Given the description of an element on the screen output the (x, y) to click on. 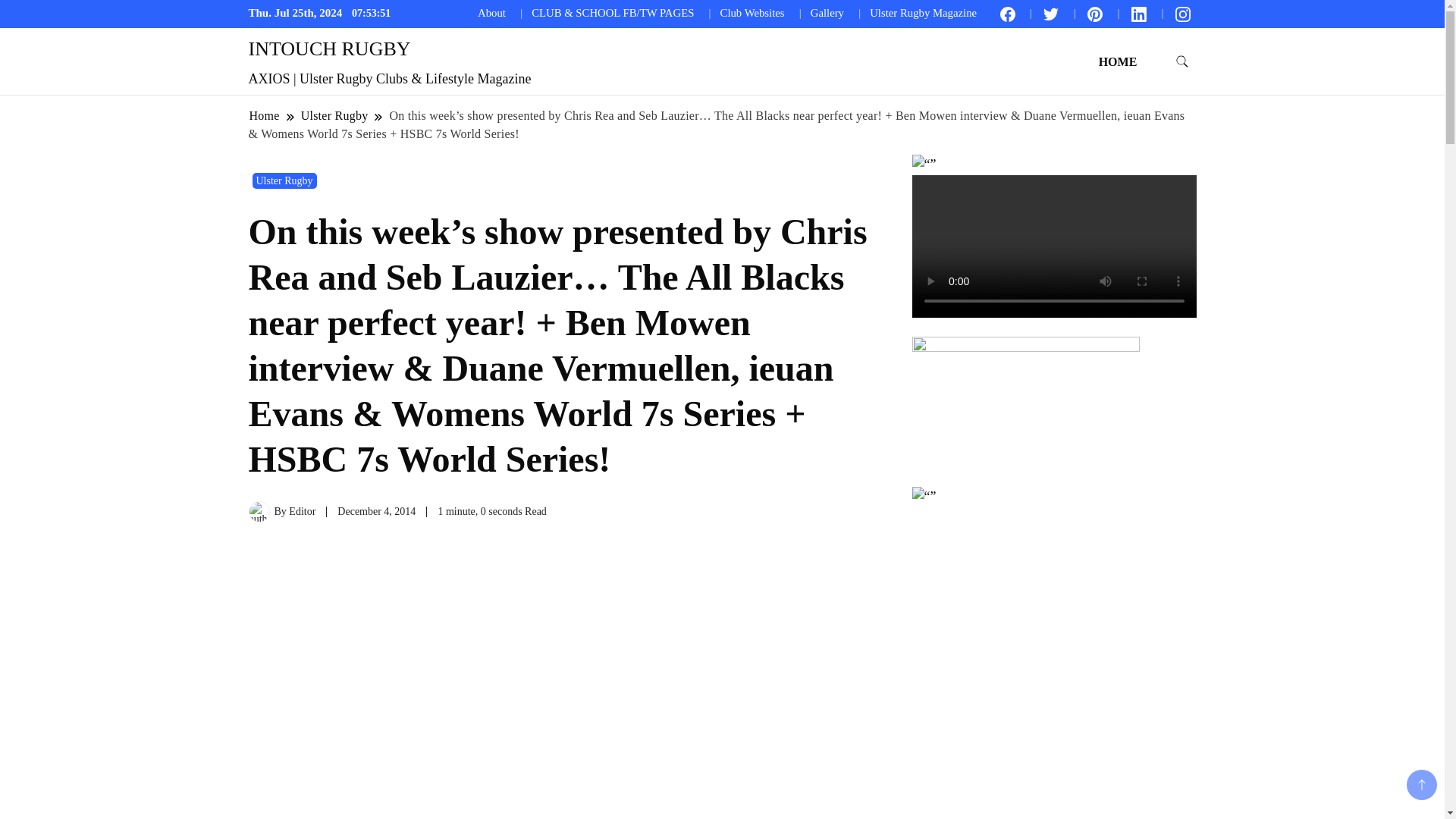
About (491, 12)
Home (264, 115)
INTOUCH RUGBY (329, 48)
Editor (301, 511)
HOME (1118, 61)
Club Websites (752, 12)
Ulster Rugby (283, 180)
Ulster Rugby (334, 115)
December 4, 2014 (375, 511)
Ulster Rugby Magazine (922, 12)
Gallery (827, 12)
